Given the description of an element on the screen output the (x, y) to click on. 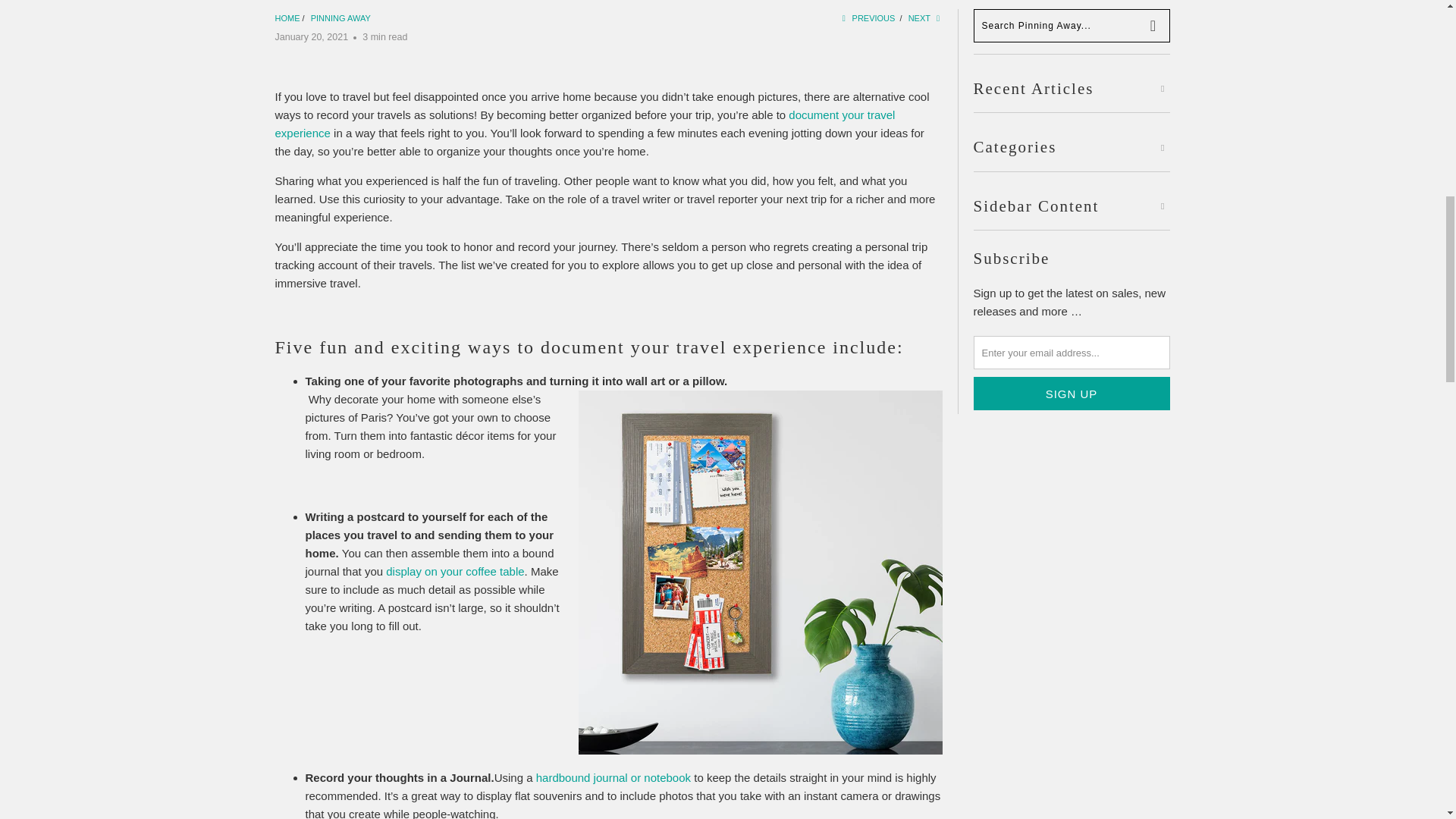
Travel Journals (612, 776)
Pinning Away (341, 17)
Sign Up (1072, 393)
Push Pin Travel Maps (287, 17)
